Given the description of an element on the screen output the (x, y) to click on. 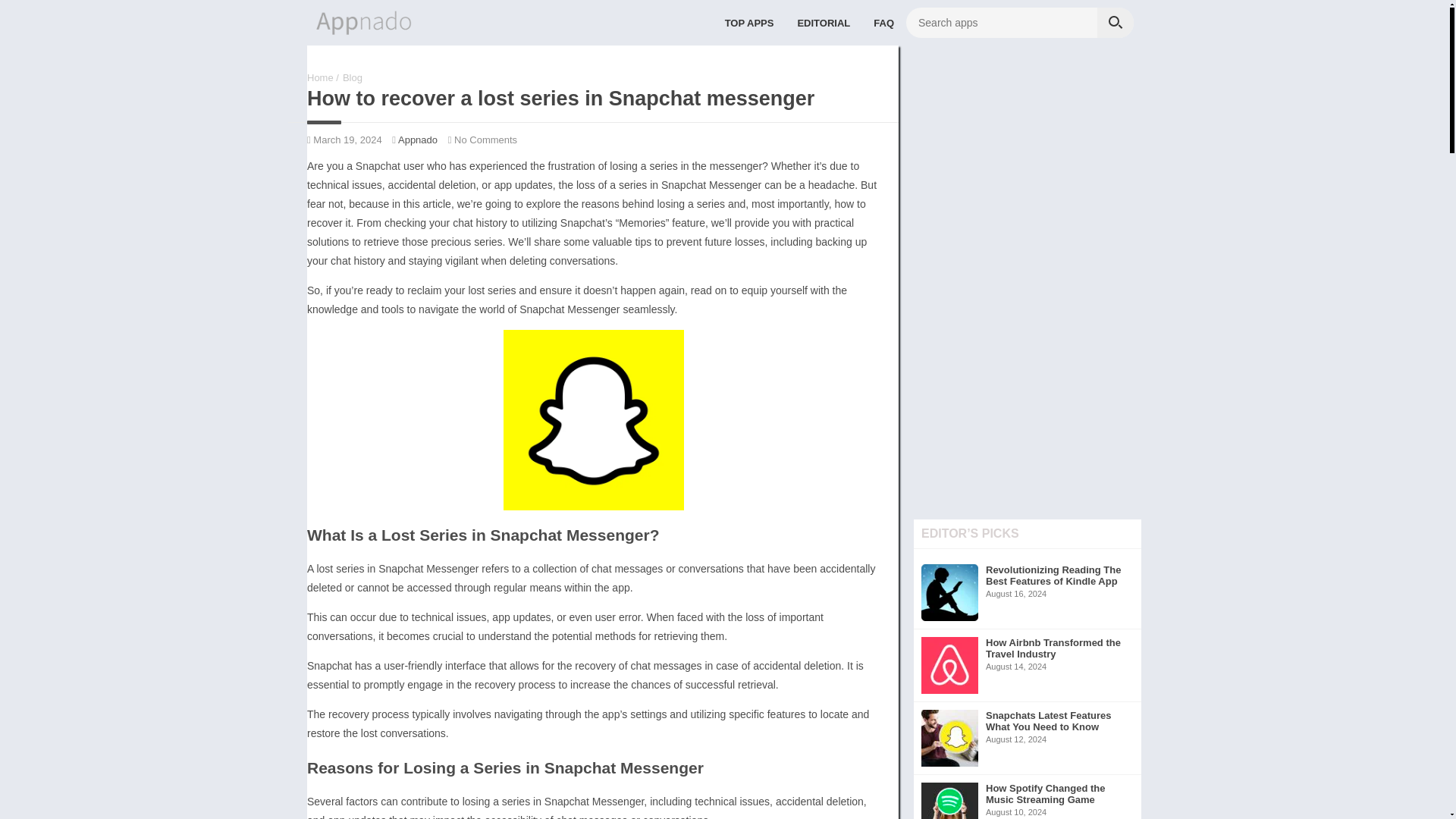
EDITORIAL (823, 22)
Appnado (417, 139)
FAQ (883, 22)
TOP APPS (1027, 796)
Blog (749, 22)
Home (352, 77)
